Given the description of an element on the screen output the (x, y) to click on. 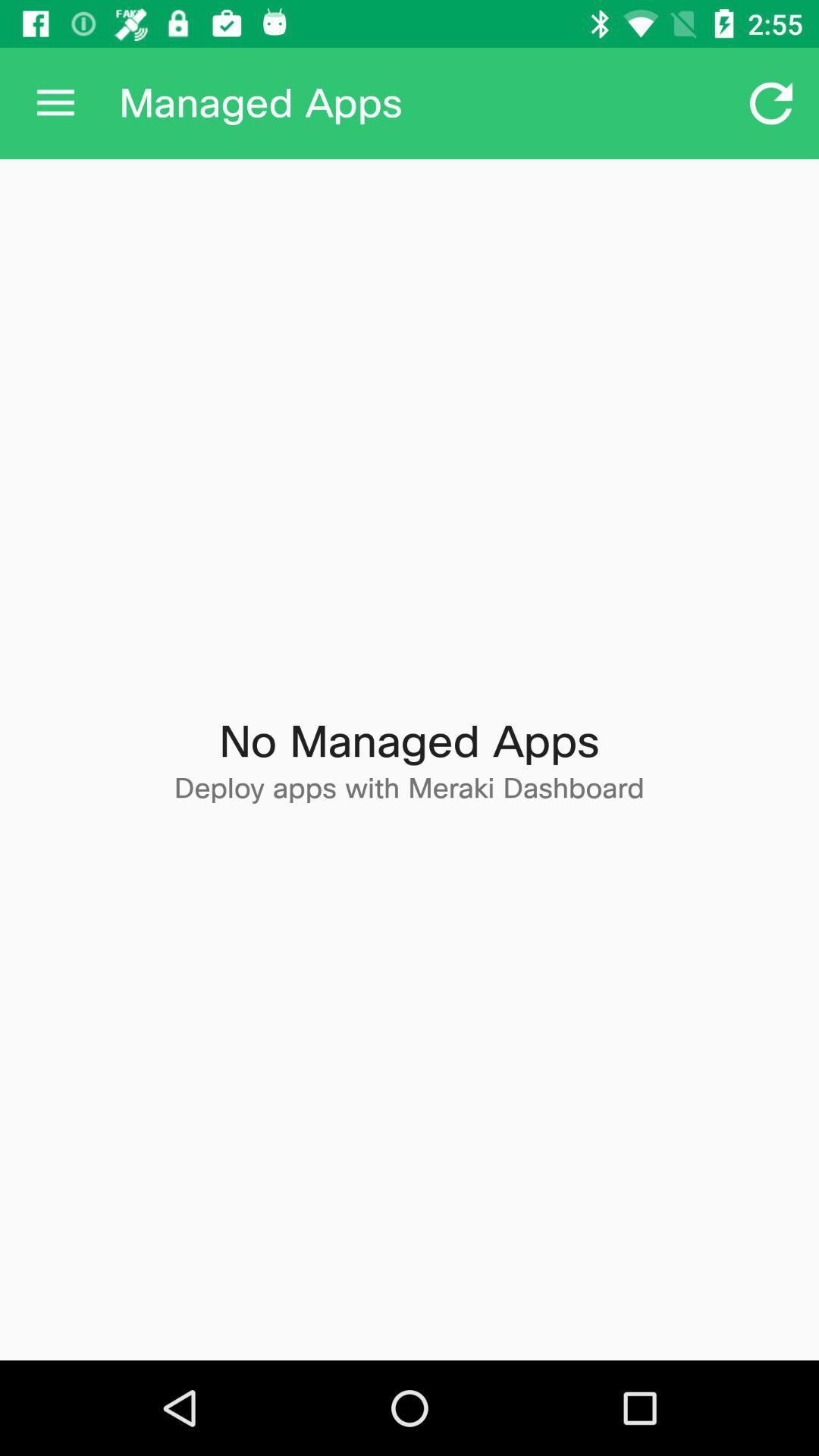
select icon next to managed apps item (55, 103)
